Given the description of an element on the screen output the (x, y) to click on. 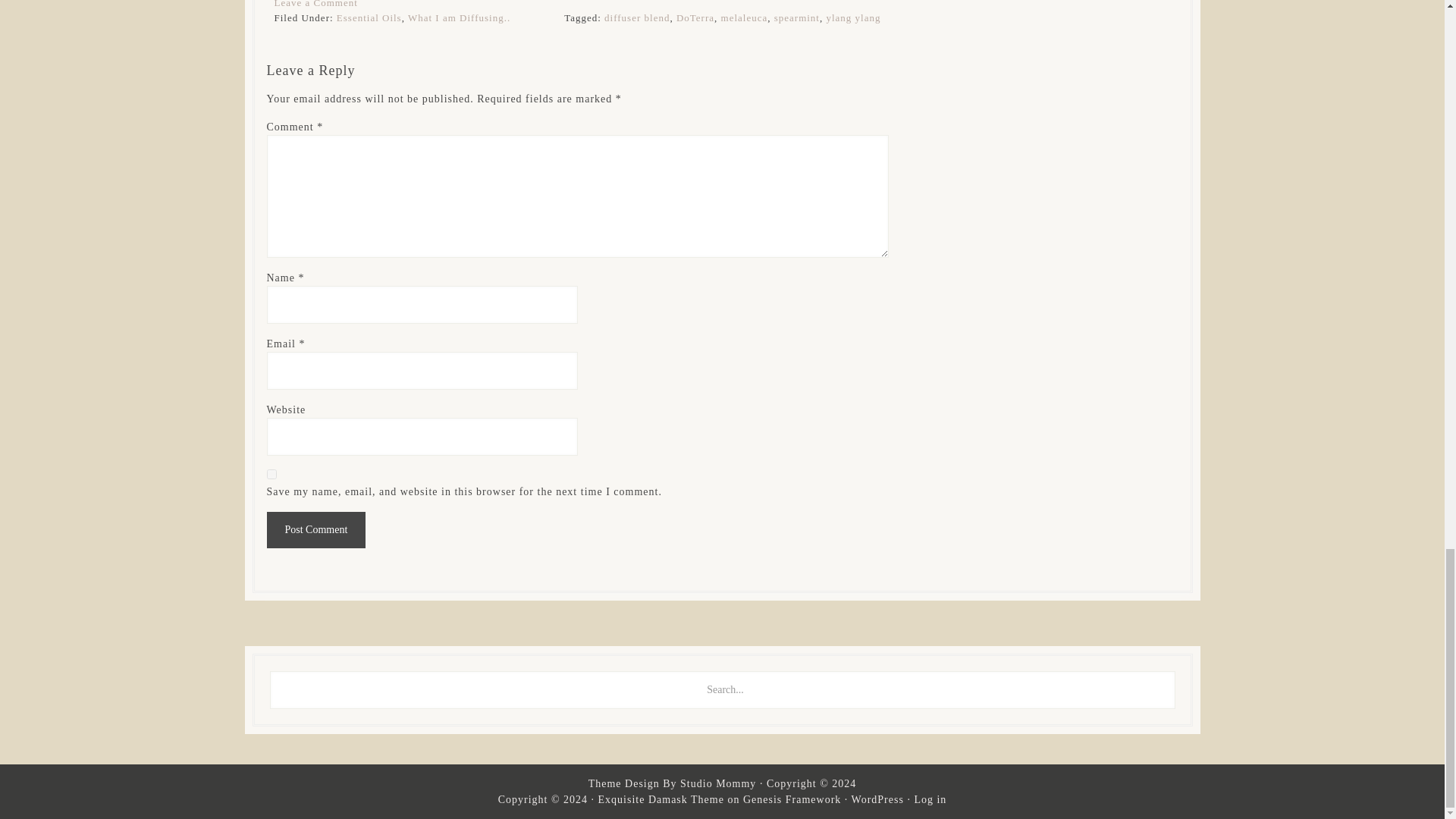
yes (271, 474)
Post Comment (316, 529)
Studio Mommy (717, 783)
Leave a Comment (316, 4)
Essential Oils (368, 17)
